Given the description of an element on the screen output the (x, y) to click on. 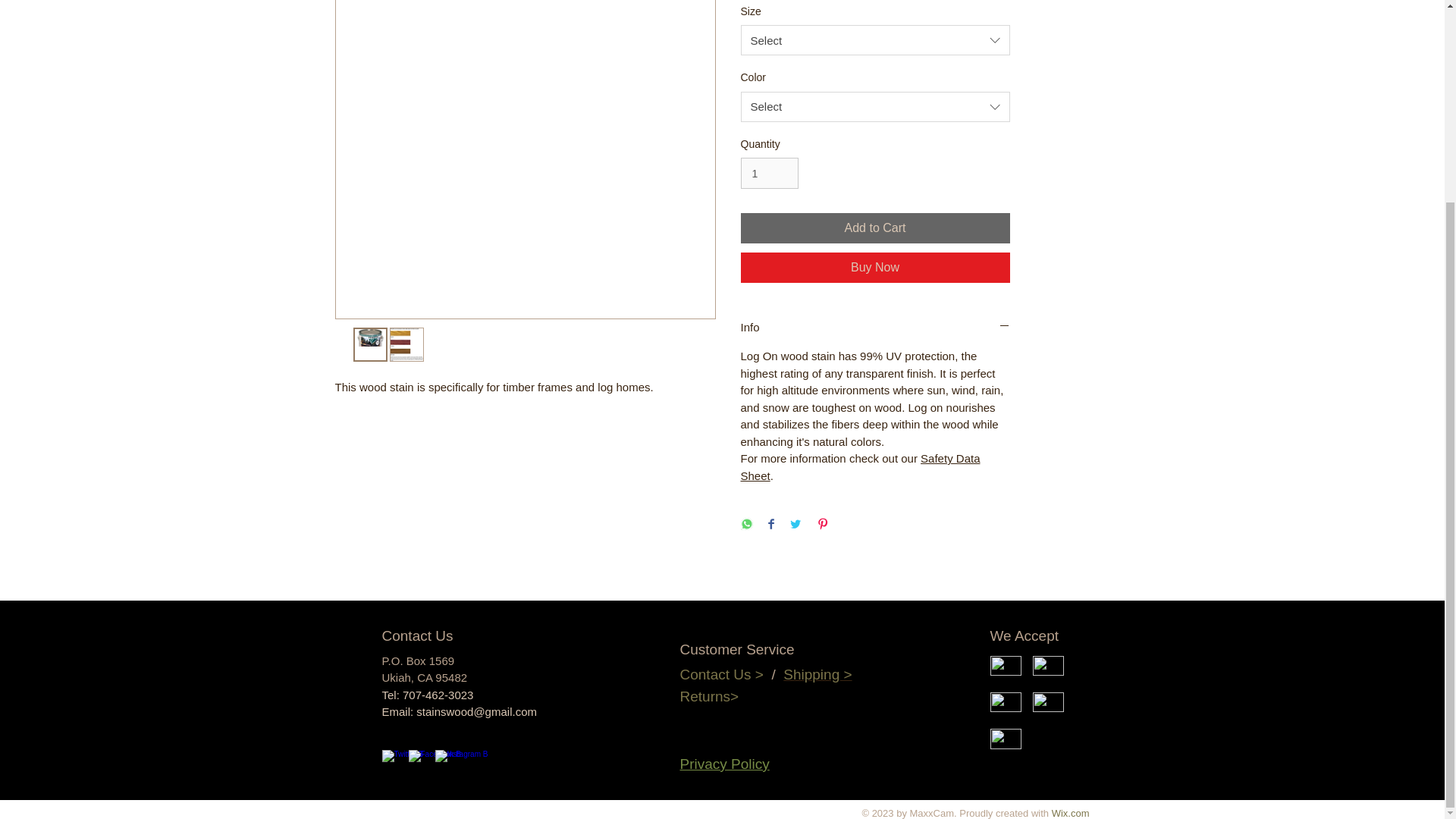
Privacy Policy (723, 763)
Add to Cart (874, 227)
1 (768, 173)
Select (874, 40)
Select (874, 106)
Safety Data Sheet (859, 467)
Info (874, 326)
Buy Now (874, 267)
